Given the description of an element on the screen output the (x, y) to click on. 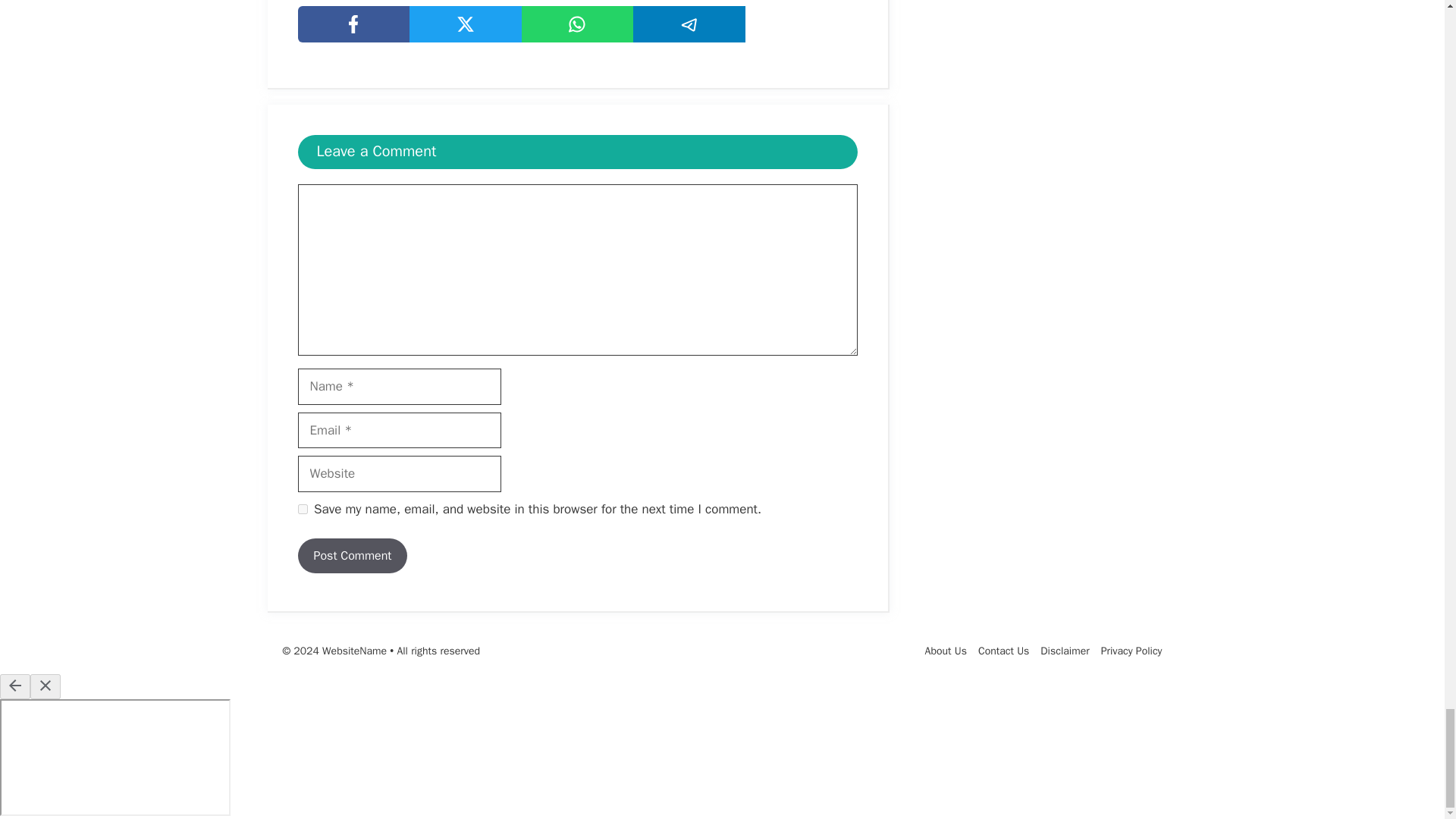
Post Comment (352, 555)
Post Comment (352, 555)
yes (302, 509)
